Given the description of an element on the screen output the (x, y) to click on. 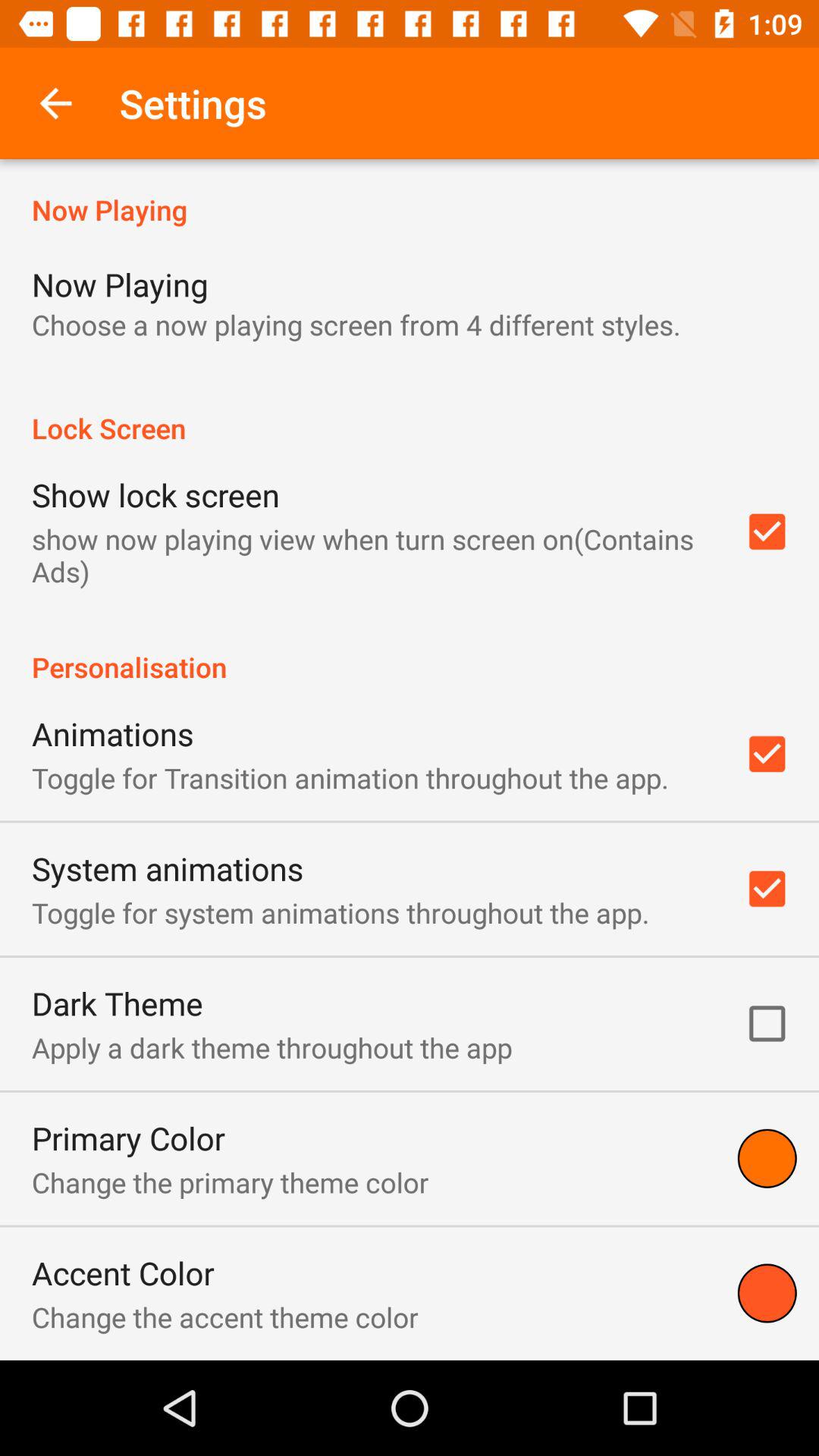
select the item next to the settings (55, 103)
